Given the description of an element on the screen output the (x, y) to click on. 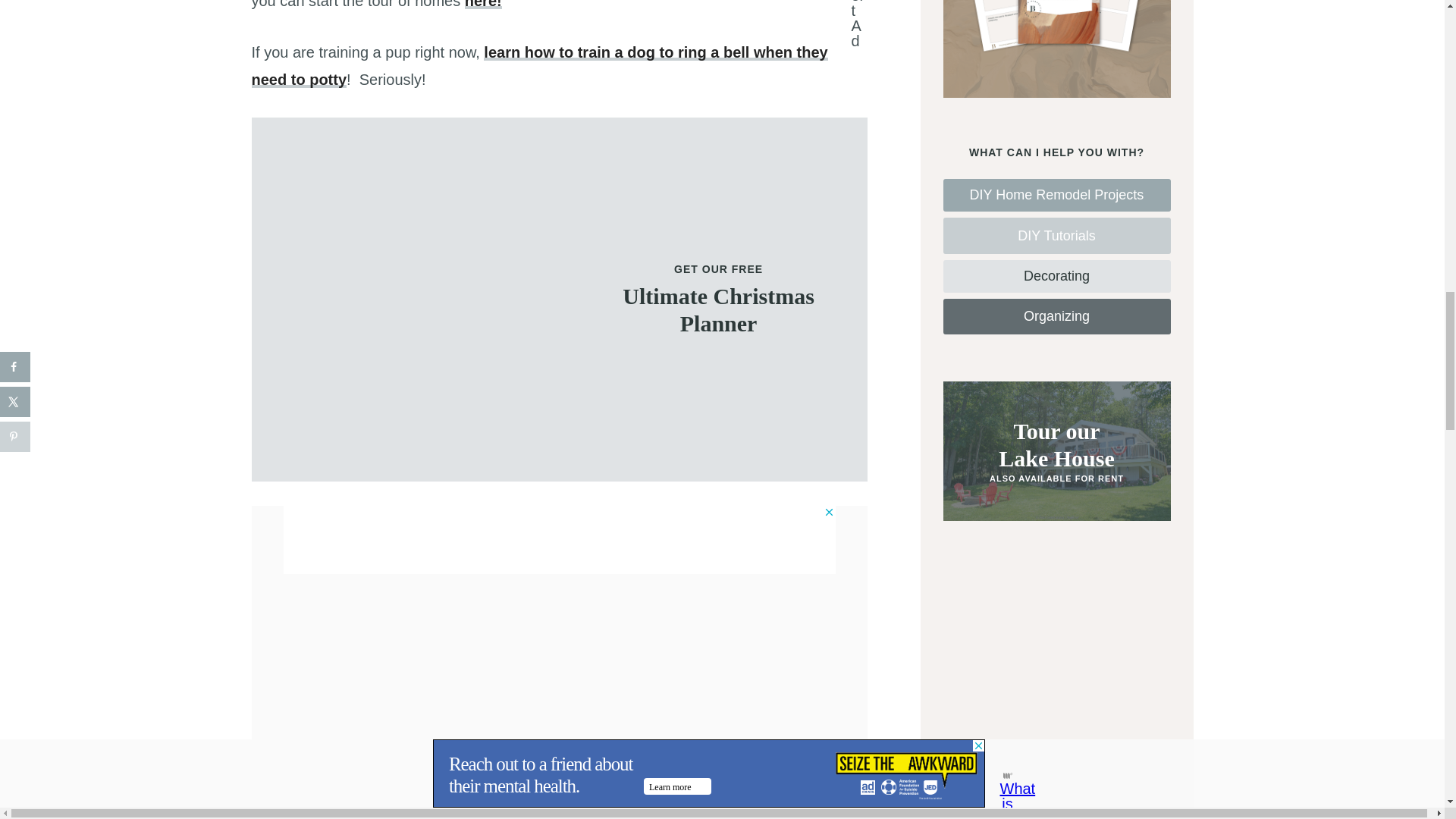
3rd party ad content (559, 540)
